Given the description of an element on the screen output the (x, y) to click on. 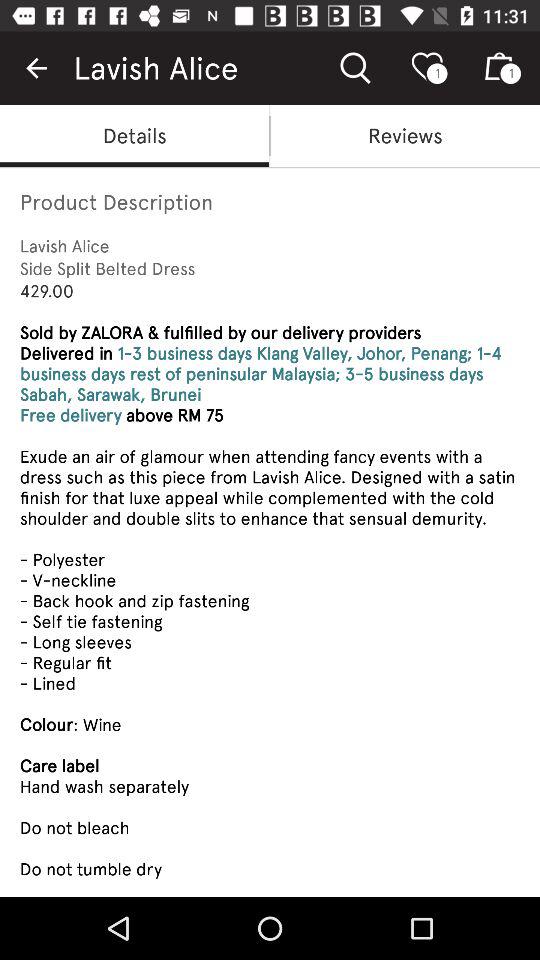
press the item to the left of the lavish alice icon (36, 68)
